Given the description of an element on the screen output the (x, y) to click on. 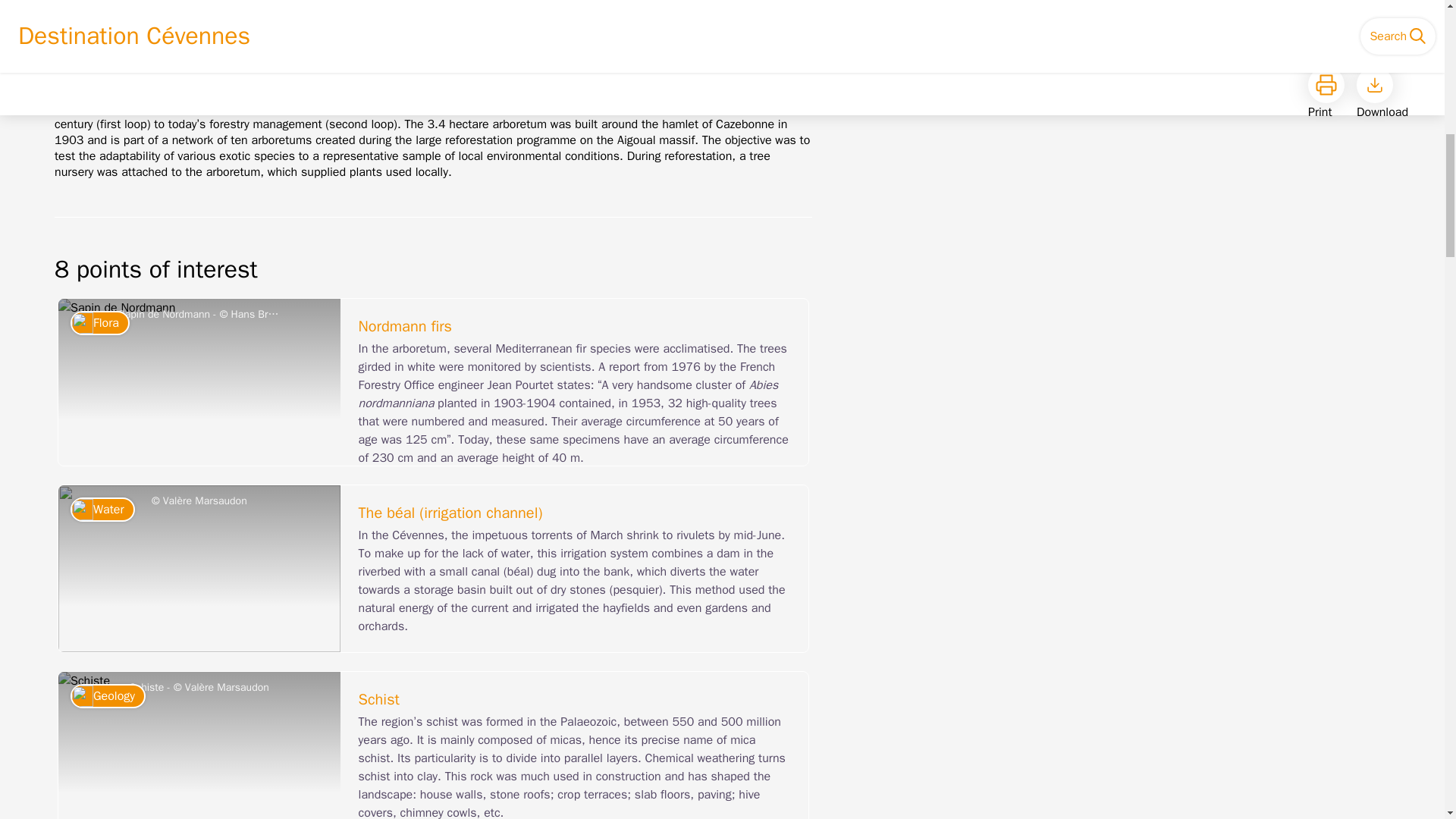
View picture in full screen (199, 568)
View picture in full screen (199, 745)
View picture in full screen (199, 382)
